Given the description of an element on the screen output the (x, y) to click on. 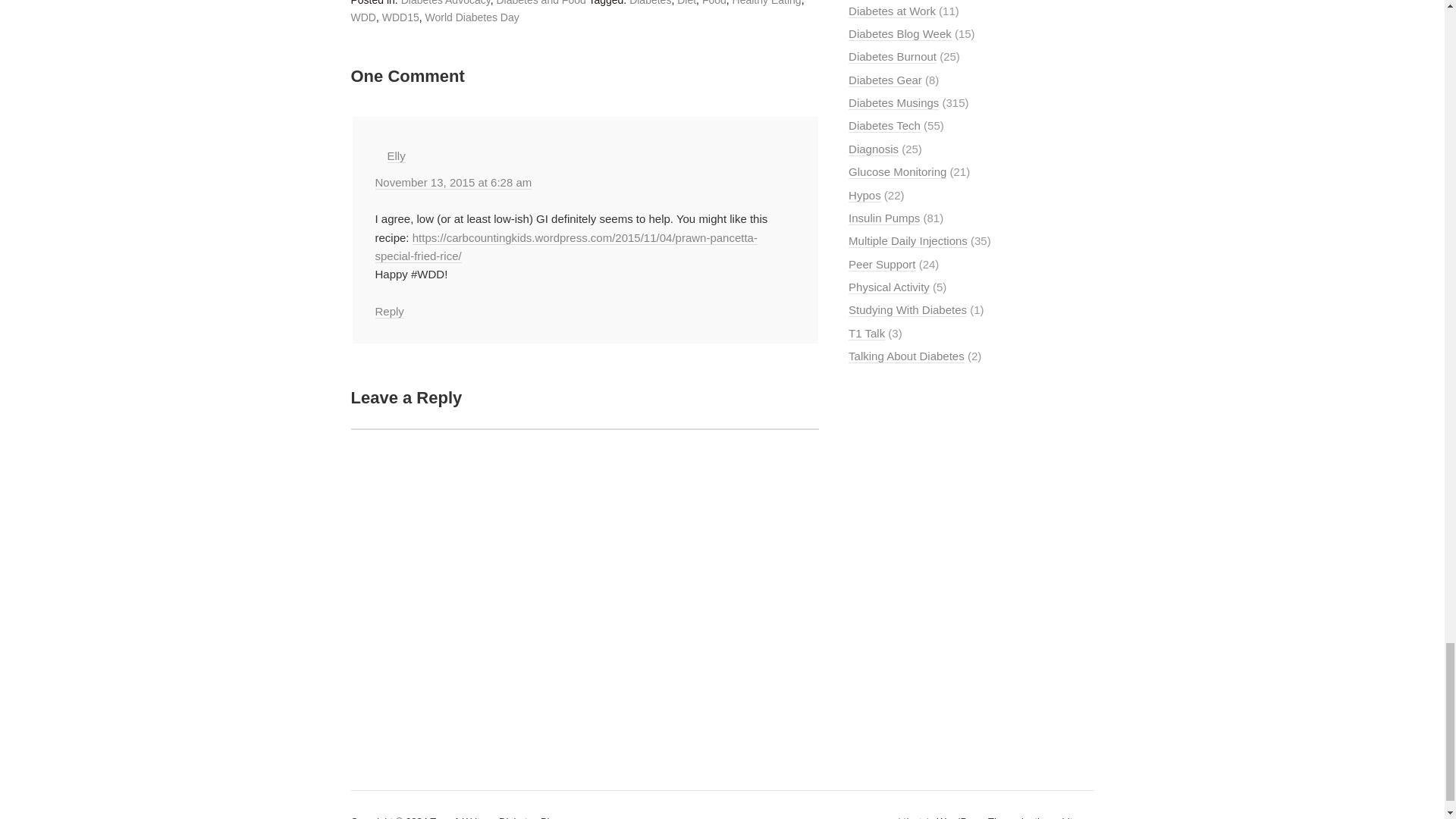
Diabetes (649, 2)
Friday, November 13, 2015, 6:28 am (452, 182)
November 13, 2015 at 6:28 am (452, 182)
Healthy Eating (767, 2)
WDD15 (400, 17)
Diabetes Advocacy (445, 2)
WDD (362, 17)
Elly (395, 155)
Food (713, 2)
Reply (388, 311)
Diabetes and Food (540, 2)
World Diabetes Day (472, 17)
Diet (686, 2)
